Given the description of an element on the screen output the (x, y) to click on. 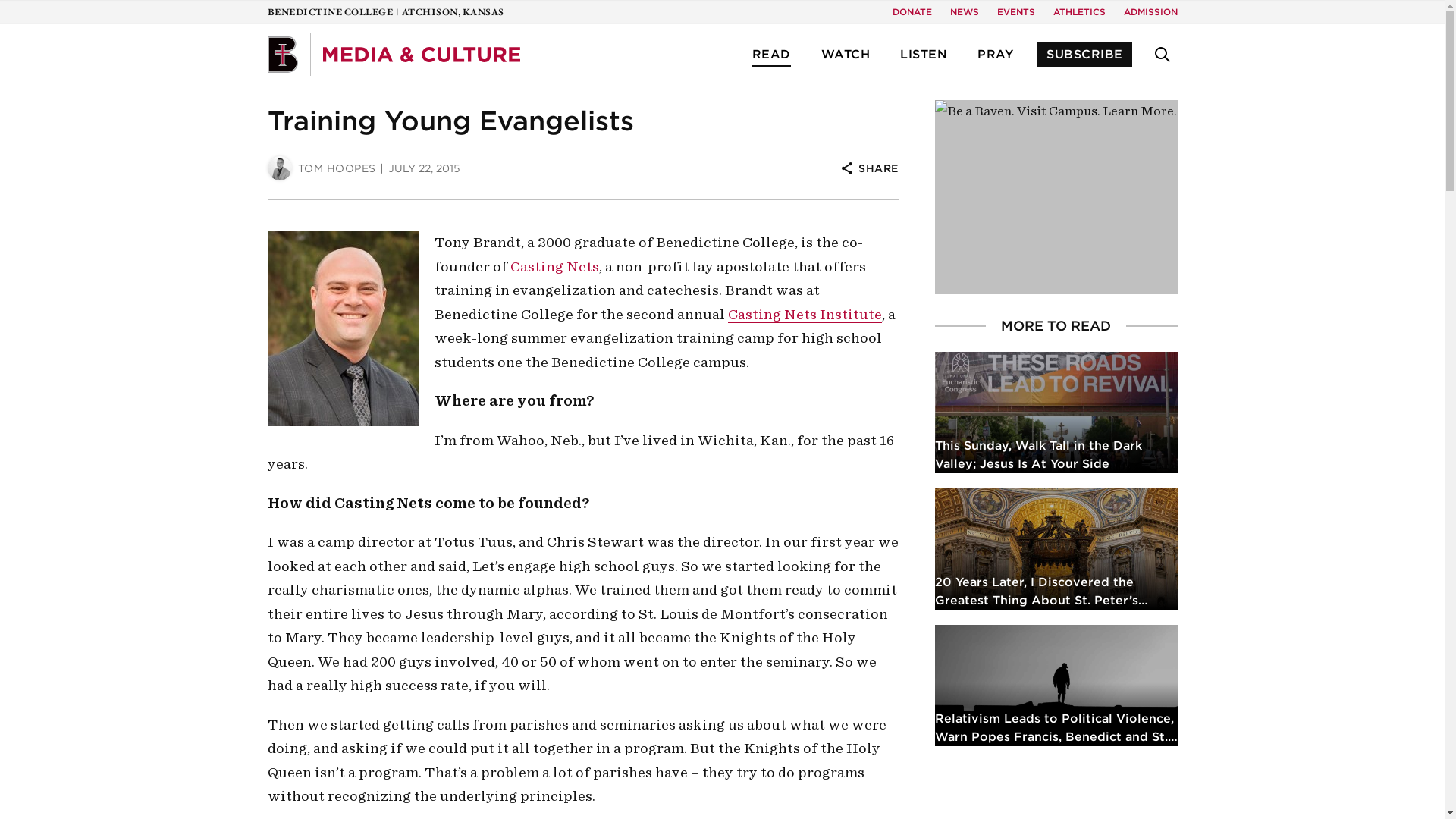
Ad: Visit Campus (1055, 196)
DONATE (911, 11)
Casting Nets Institute (805, 314)
TOM HOOPES (320, 168)
PRAY (994, 54)
EVENTS (1014, 11)
WATCH (845, 54)
SUBSCRIBE (1084, 54)
LISTEN (923, 54)
ATHLETICS (1078, 11)
ADMISSION (1150, 11)
Casting Nets (553, 265)
READ (771, 54)
